Given the description of an element on the screen output the (x, y) to click on. 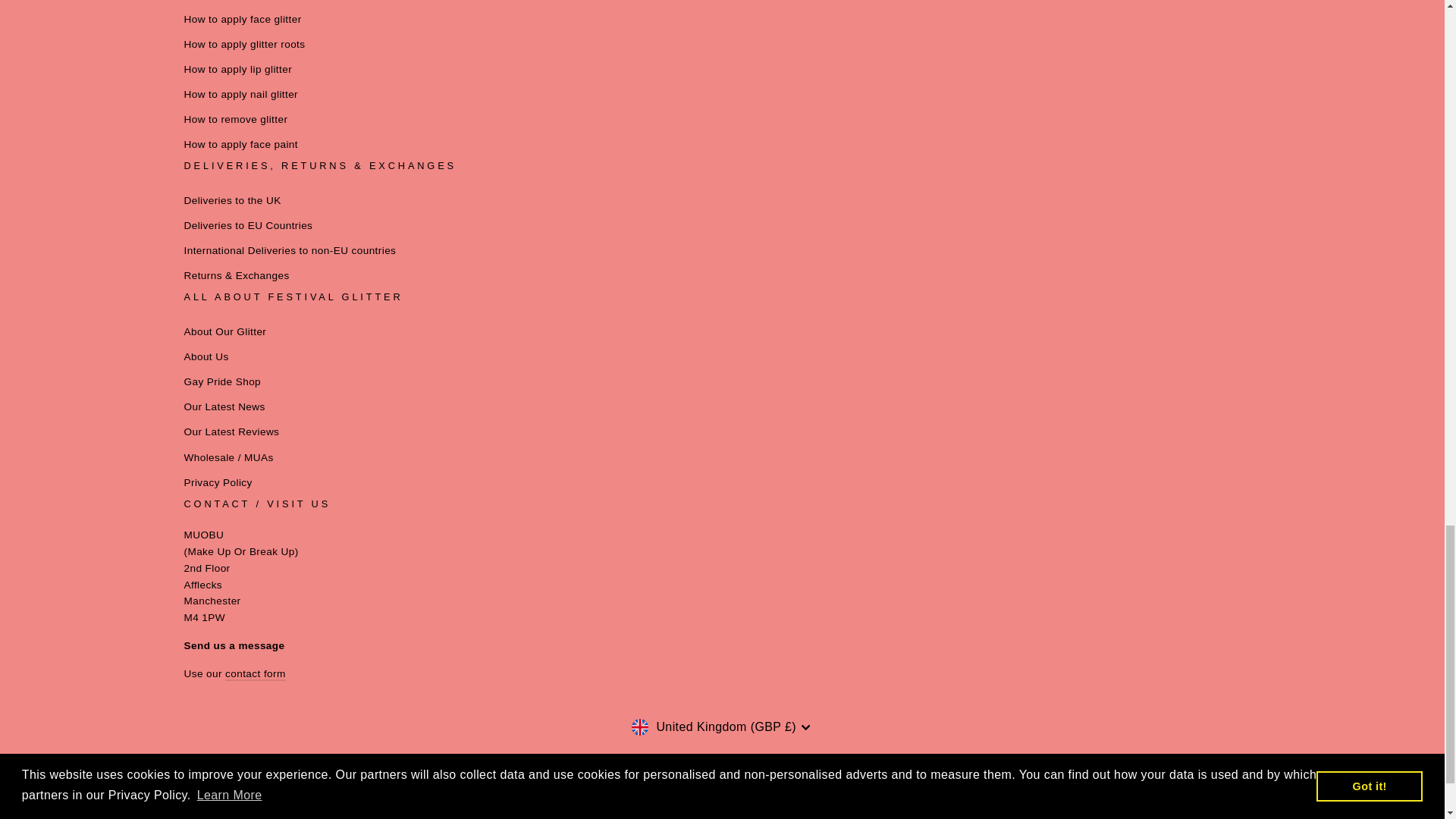
American Express (548, 777)
Google Pay (686, 777)
Discover (652, 777)
Contact Us (255, 674)
Maestro (721, 777)
Diners Club (617, 777)
Apple Pay (582, 777)
